Given the description of an element on the screen output the (x, y) to click on. 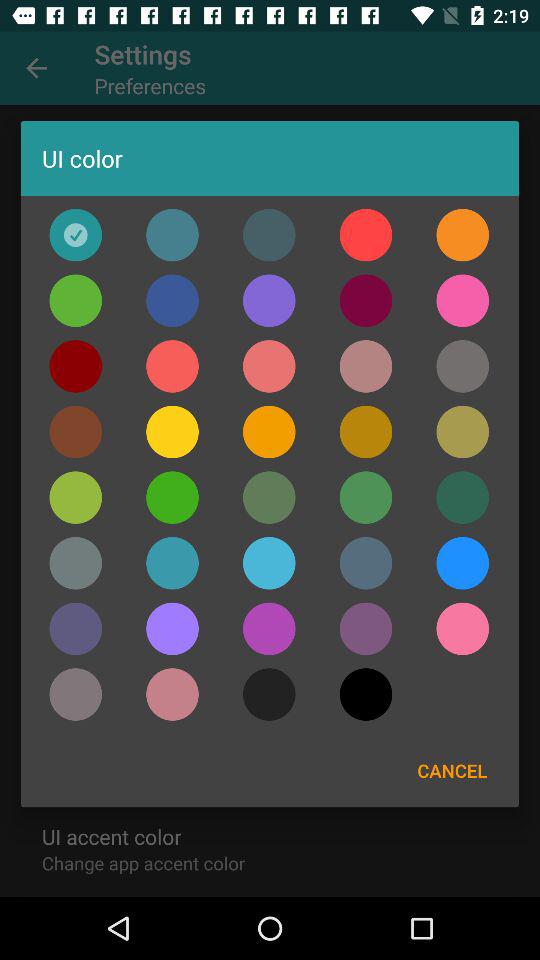
choose the color (172, 628)
